Given the description of an element on the screen output the (x, y) to click on. 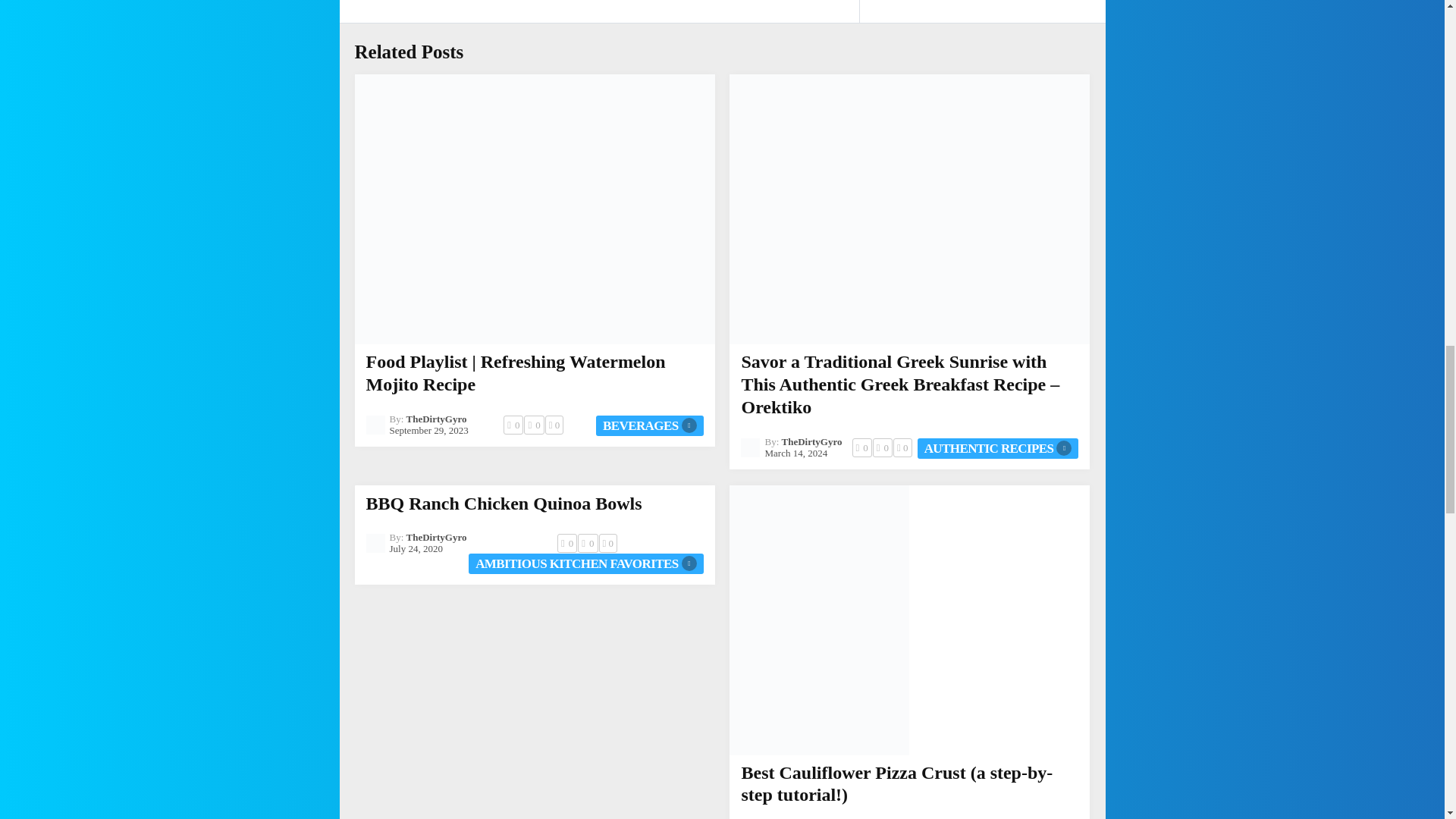
BEVERAGES (649, 425)
TheDirtyGyro (436, 419)
